Given the description of an element on the screen output the (x, y) to click on. 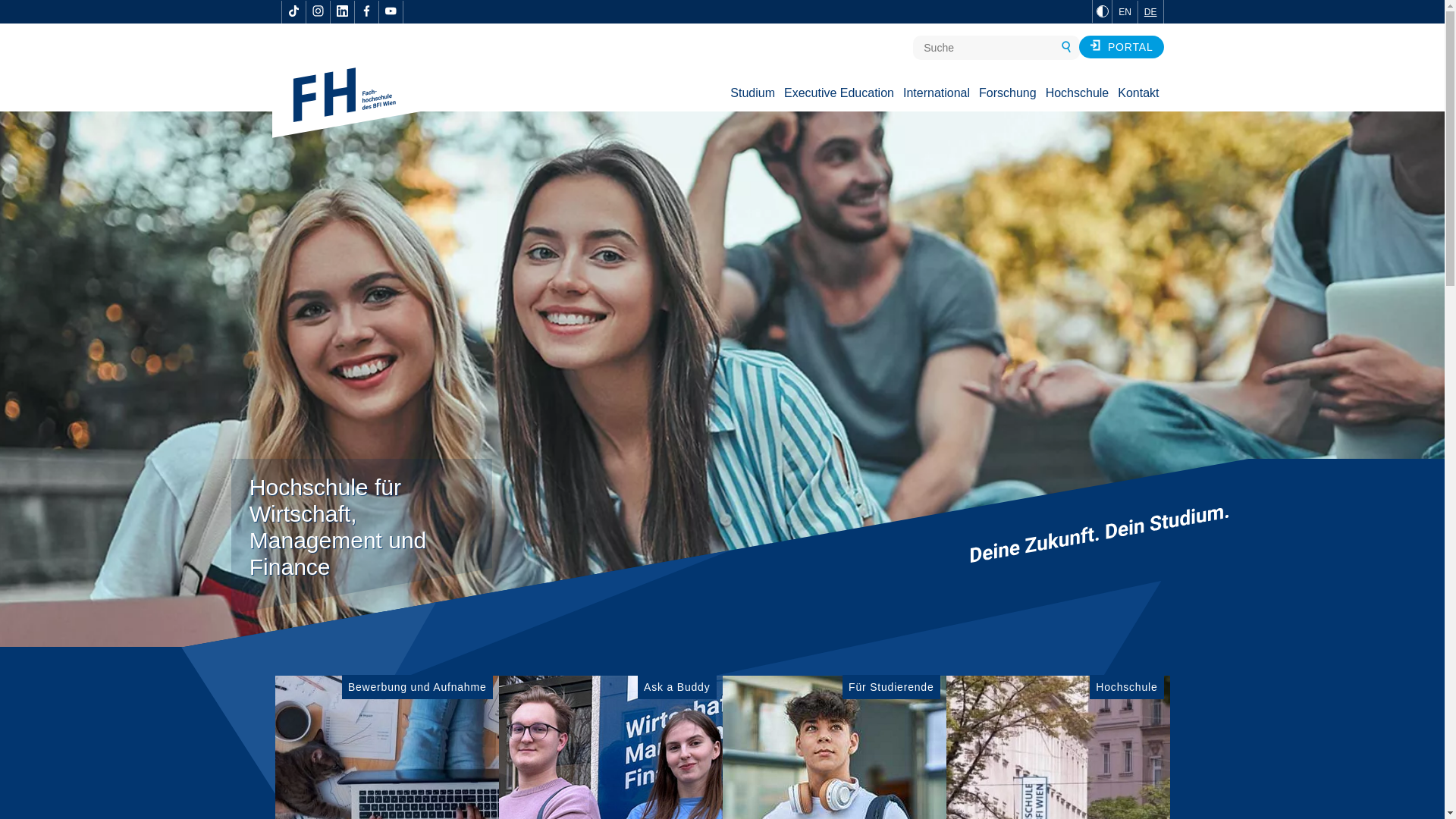
PORTAL (1120, 47)
ENGLISCH (1124, 11)
EN (1124, 11)
Studium (752, 92)
Executive Education (838, 92)
DEUTSCH (1150, 11)
DE (1150, 11)
